Given the description of an element on the screen output the (x, y) to click on. 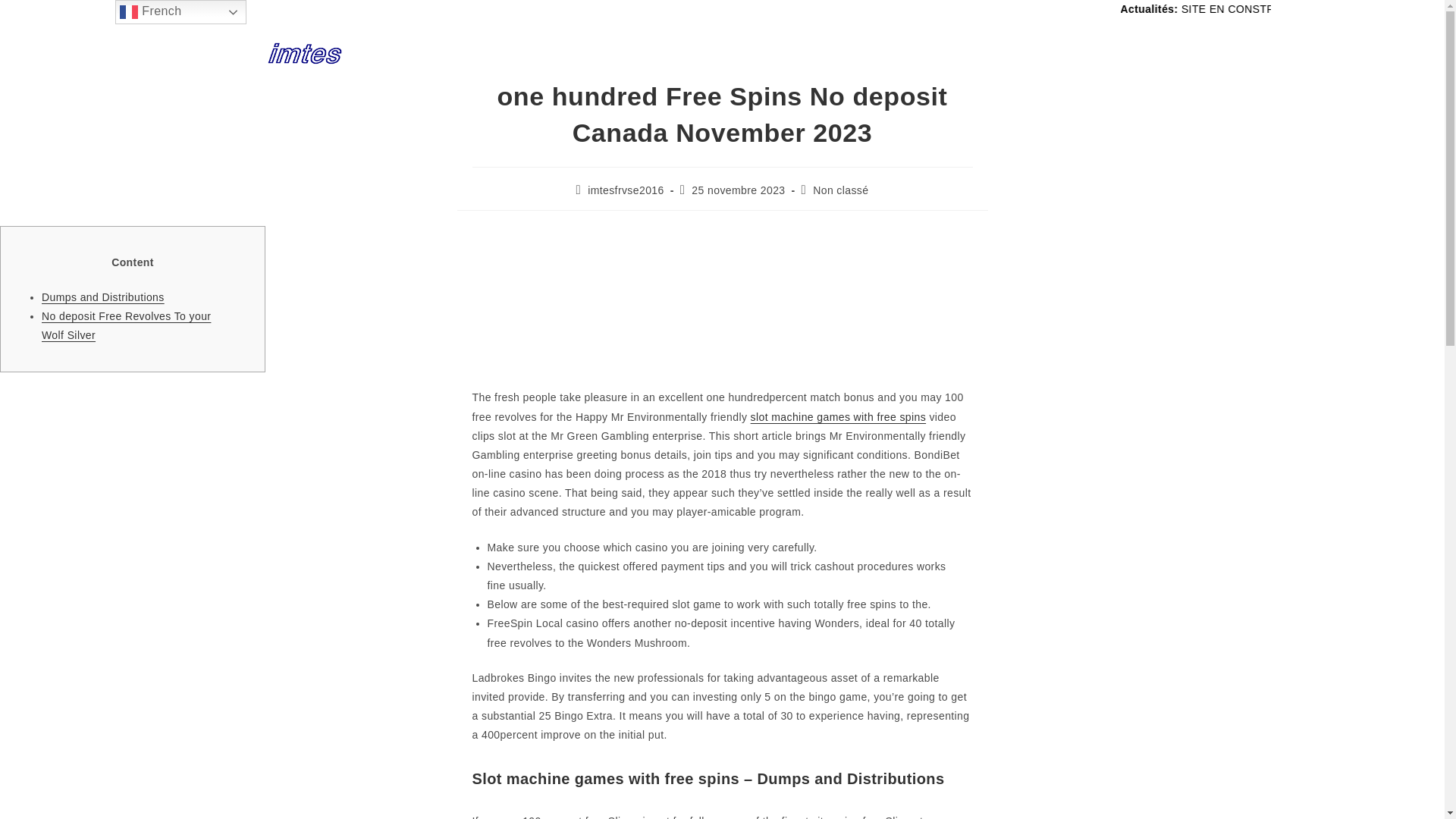
slot machine games with free spins (838, 417)
No deposit Free Revolves To your Wolf Silver (126, 325)
French (180, 12)
Dumps and Distributions (103, 297)
Articles par imtesfrvse2016 (625, 190)
imtesfrvse2016 (625, 190)
